Given the description of an element on the screen output the (x, y) to click on. 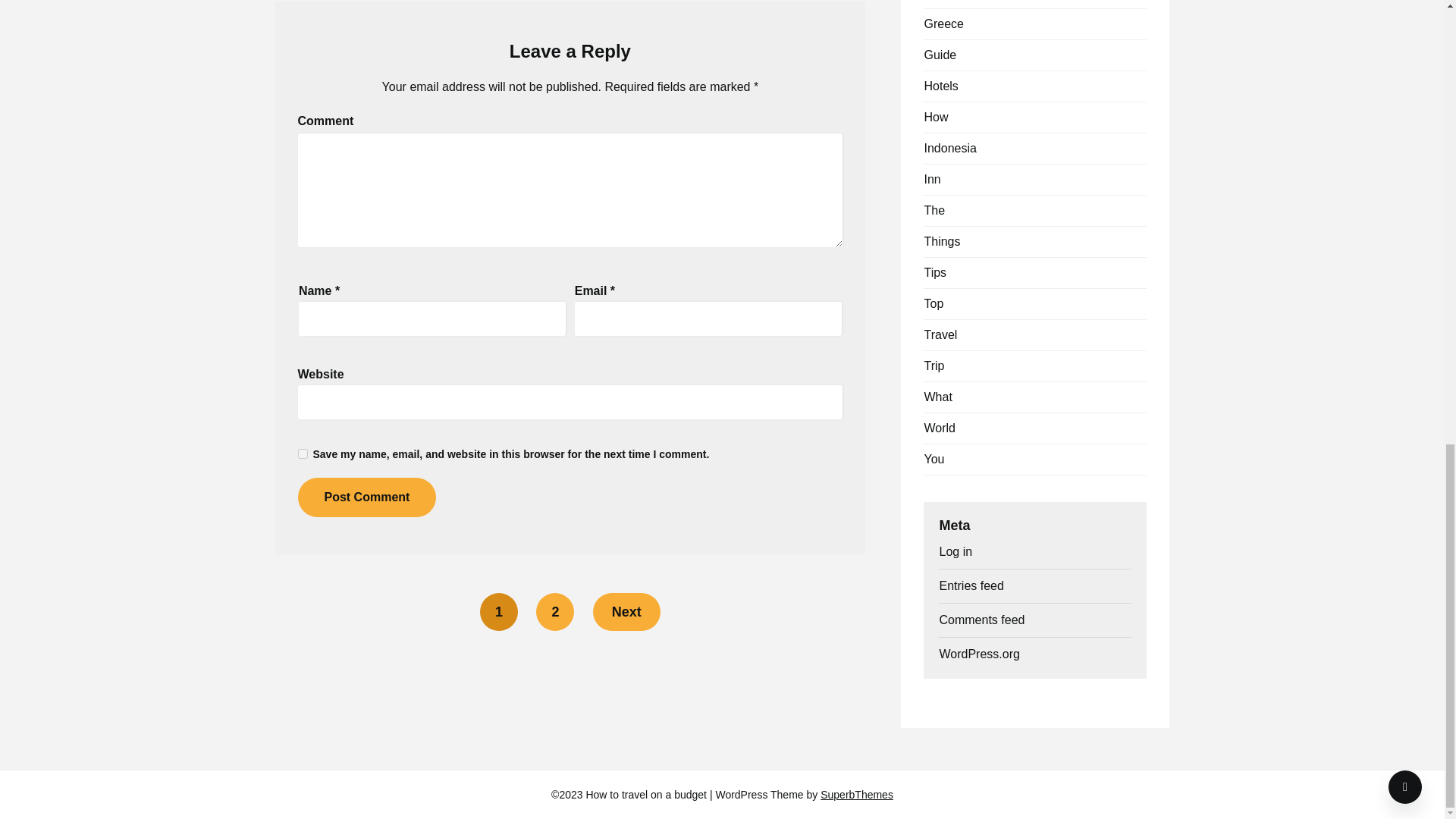
How (935, 116)
yes (302, 453)
Next (626, 611)
Greece (942, 23)
Post Comment (366, 496)
Guide (939, 54)
Hotels (940, 85)
Post Comment (366, 496)
2 (554, 611)
